Given the description of an element on the screen output the (x, y) to click on. 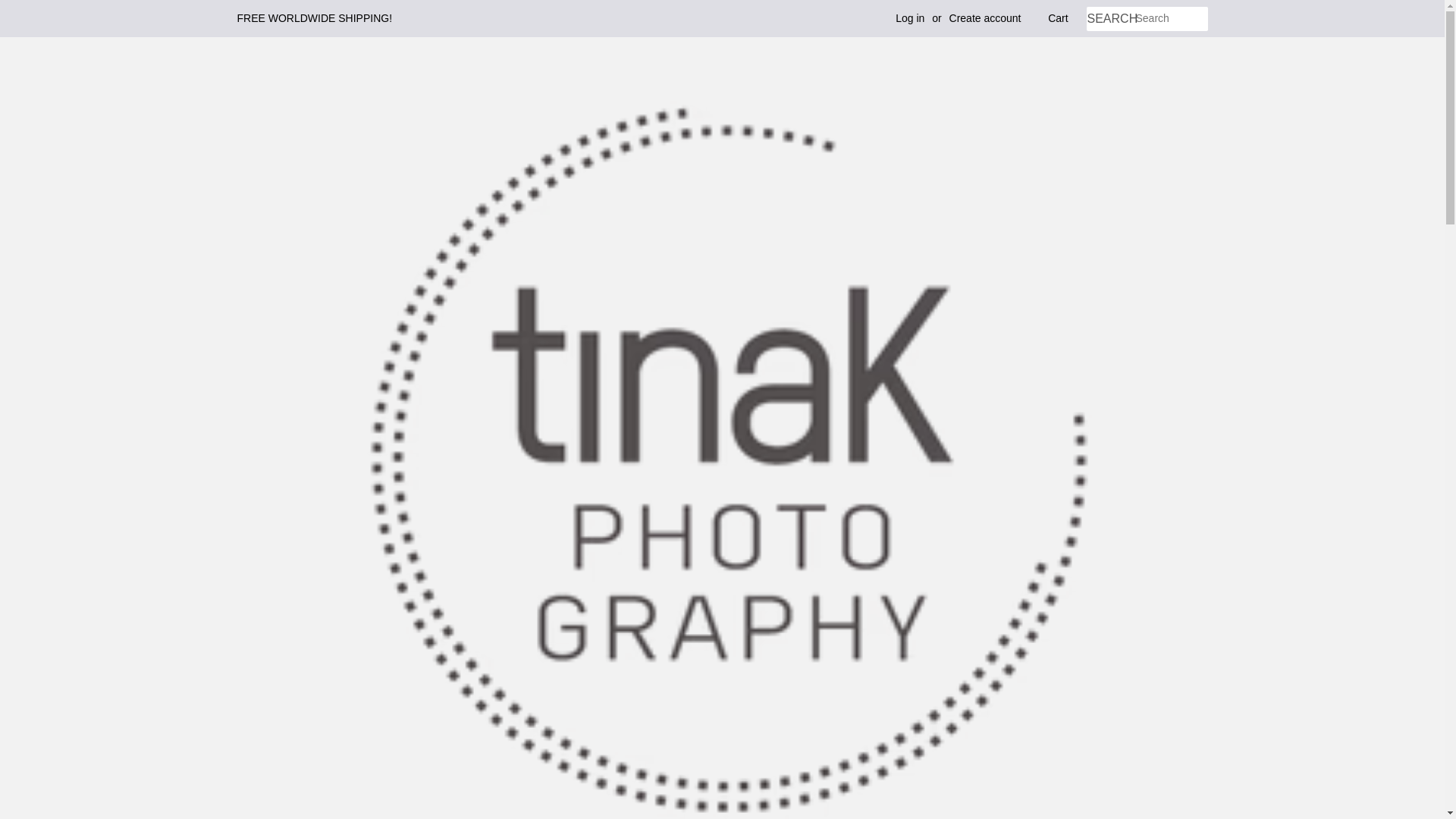
Create account (985, 18)
Log in (909, 18)
SEARCH (1110, 18)
Cart (1057, 18)
FREE WORLDWIDE SHIPPING! (313, 18)
